Given the description of an element on the screen output the (x, y) to click on. 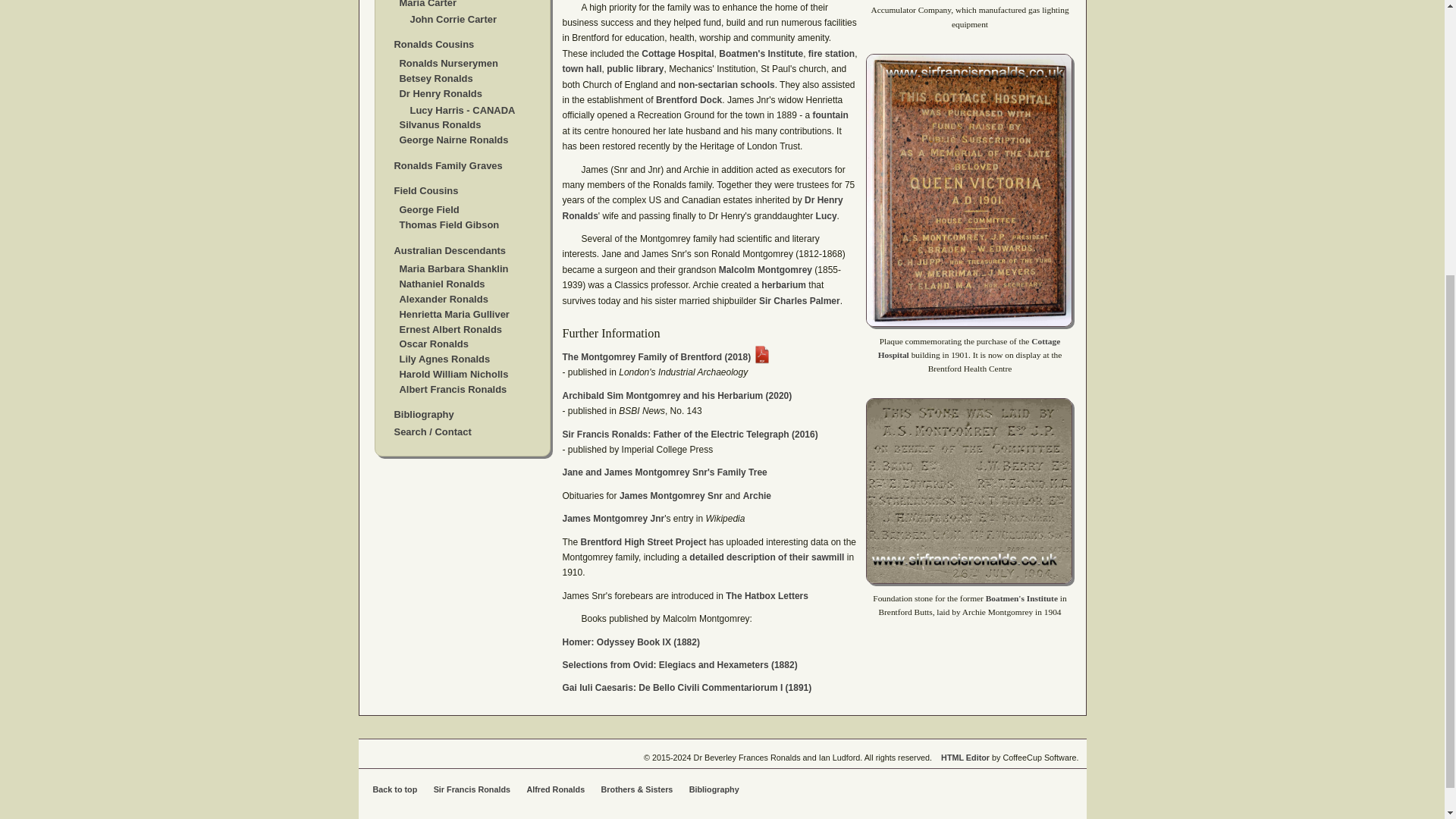
Betsey Ronalds (434, 78)
Henrietta Maria Gulliver (453, 314)
Albert Francis Ronalds (452, 389)
Oscar Ronalds (432, 343)
Ernest Albert Ronalds (450, 328)
Silvanus Ronalds (439, 124)
George Nairne Ronalds (453, 139)
Lucy Harris - CANADA (462, 110)
Harold William Nicholls (453, 374)
John Corrie Carter (452, 19)
Ronalds Nurserymen (447, 62)
Nathaniel Ronalds (441, 283)
Thomas Field Gibson (448, 224)
Ronalds Cousins (434, 43)
Ronalds Family Graves (448, 165)
